Given the description of an element on the screen output the (x, y) to click on. 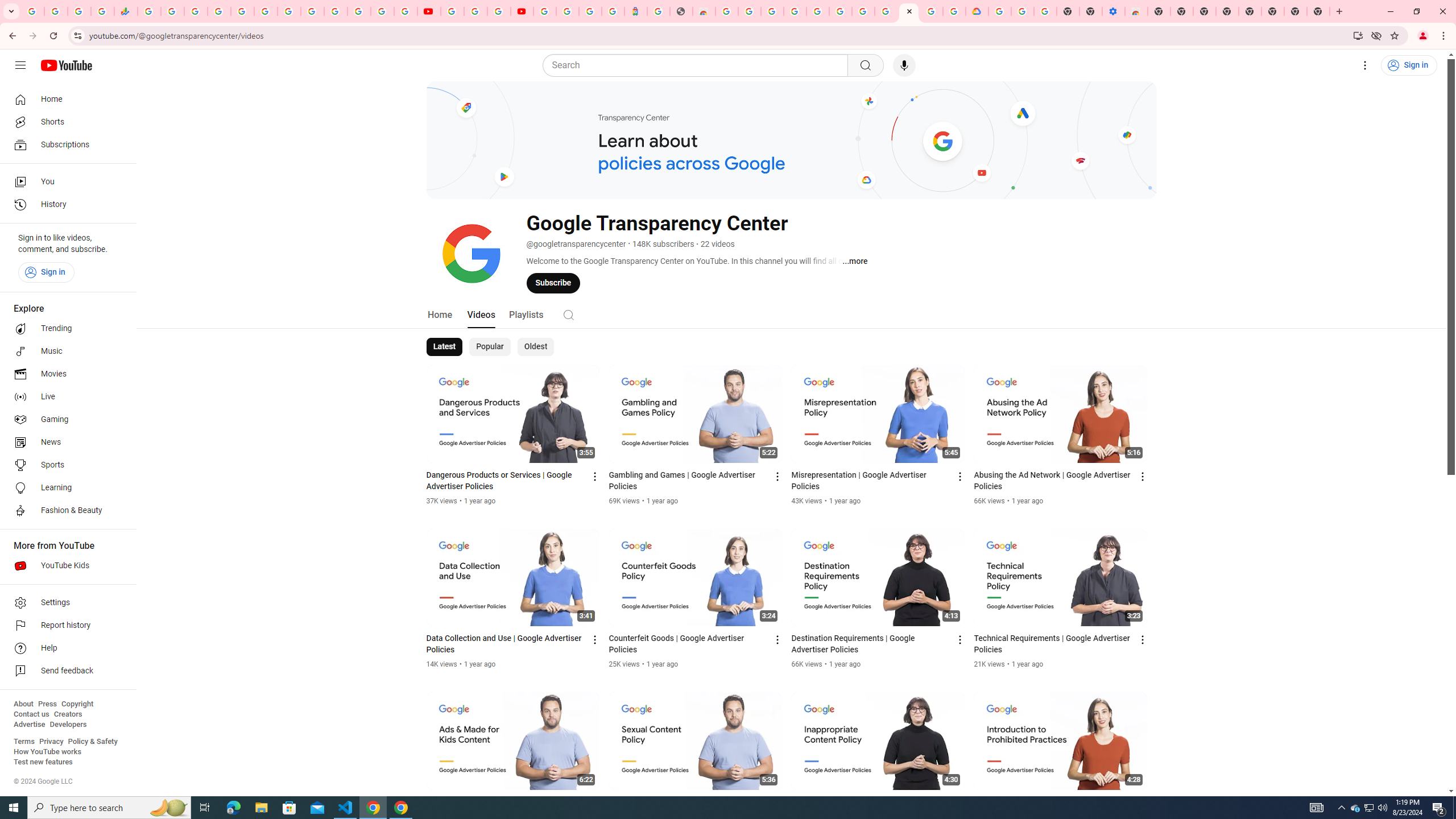
Sign in - Google Accounts (545, 11)
Test new features (42, 761)
Trending (64, 328)
Create your Google Account (931, 11)
Create your Google Account (498, 11)
Report history (64, 625)
Settings (1365, 65)
News (64, 441)
Home (440, 314)
Install YouTube (1358, 35)
